Given the description of an element on the screen output the (x, y) to click on. 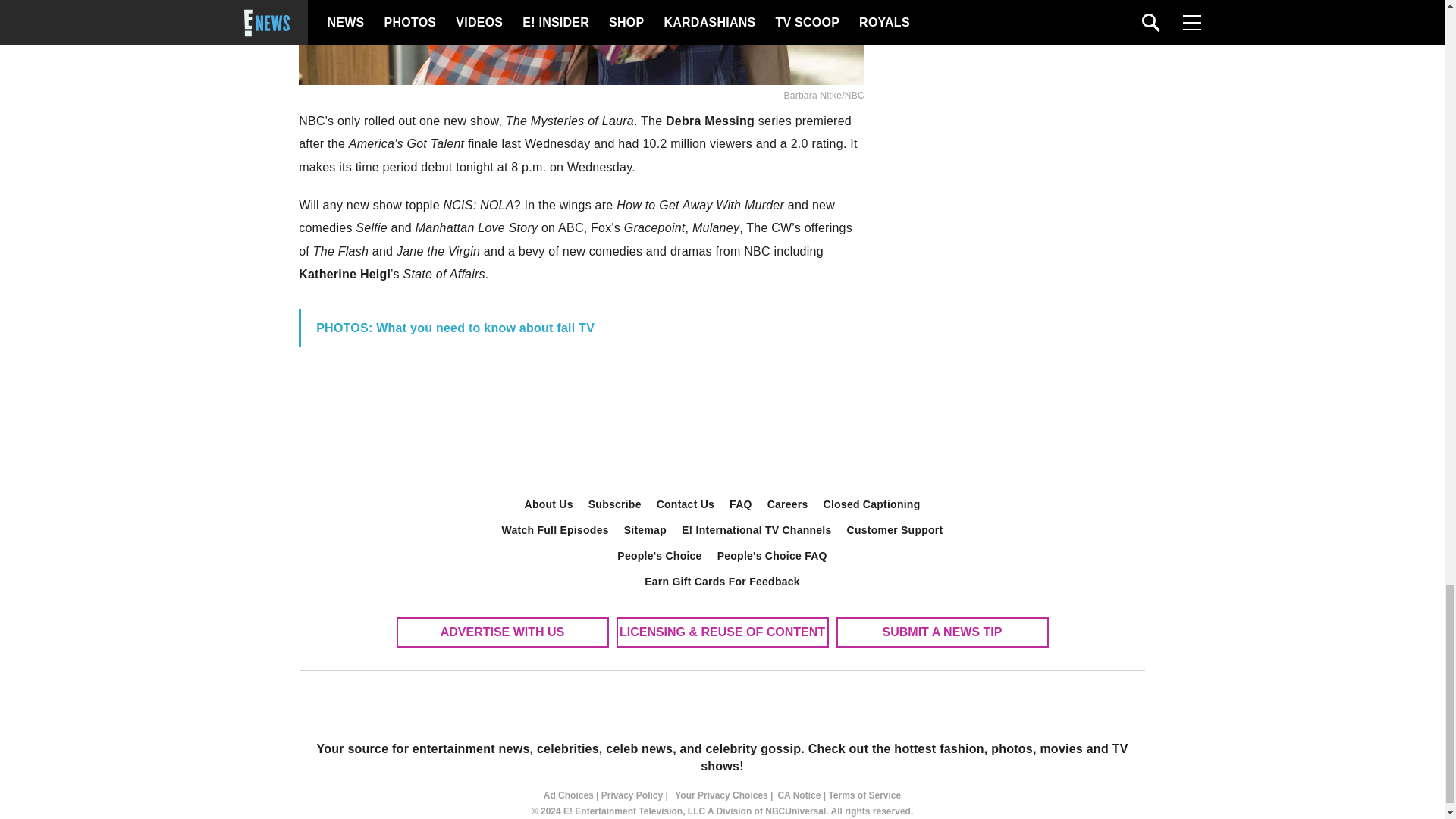
Subscribe (614, 503)
PHOTOS: What you need to know about fall TV (454, 327)
FAQ (741, 503)
Contact Us (685, 503)
About Us (548, 503)
Closed Captioning (871, 503)
Careers (787, 503)
